Given the description of an element on the screen output the (x, y) to click on. 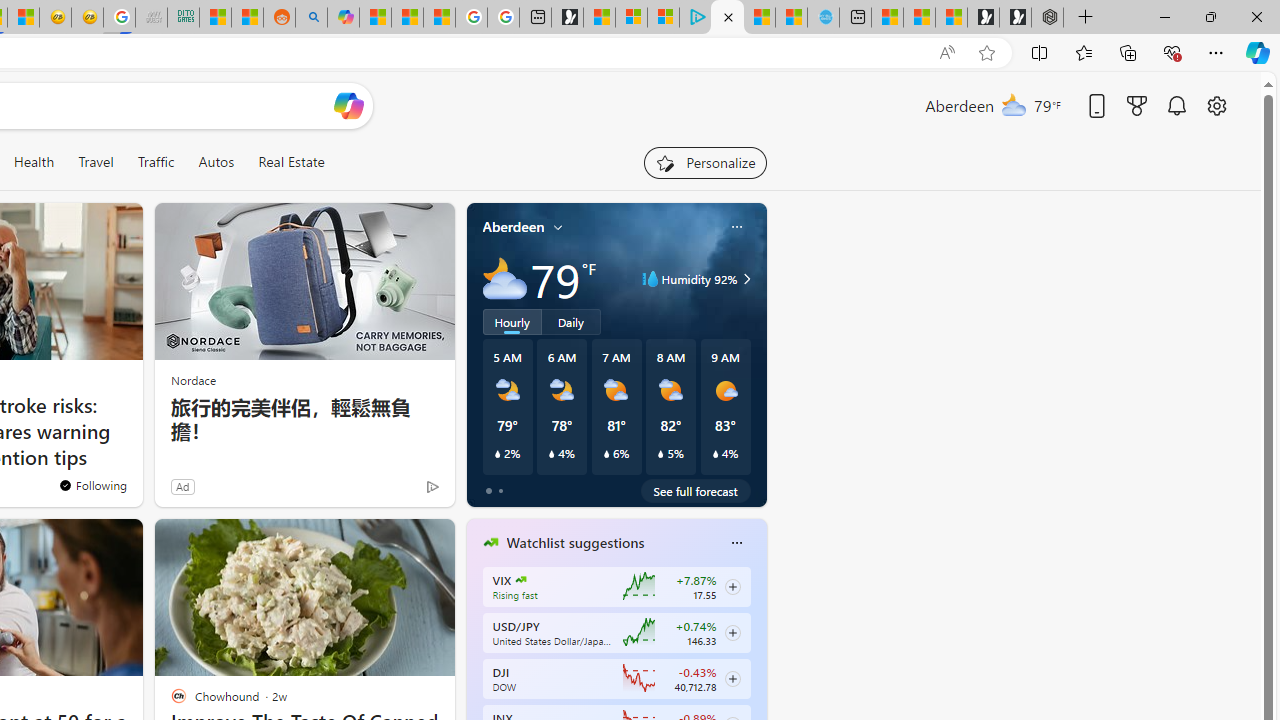
Class: follow-button  m (732, 678)
